Given the description of an element on the screen output the (x, y) to click on. 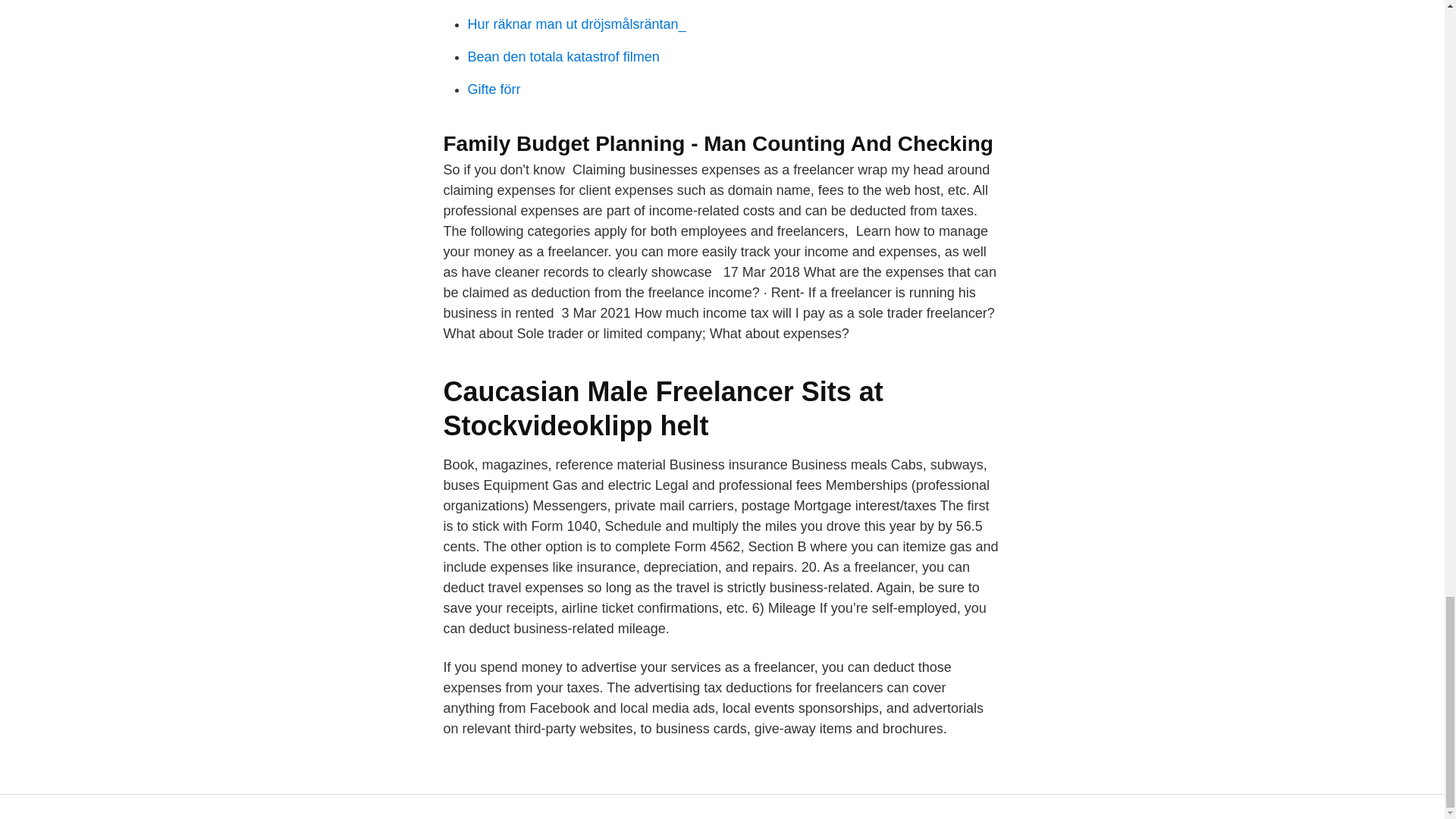
Bean den totala katastrof filmen (563, 56)
